Given the description of an element on the screen output the (x, y) to click on. 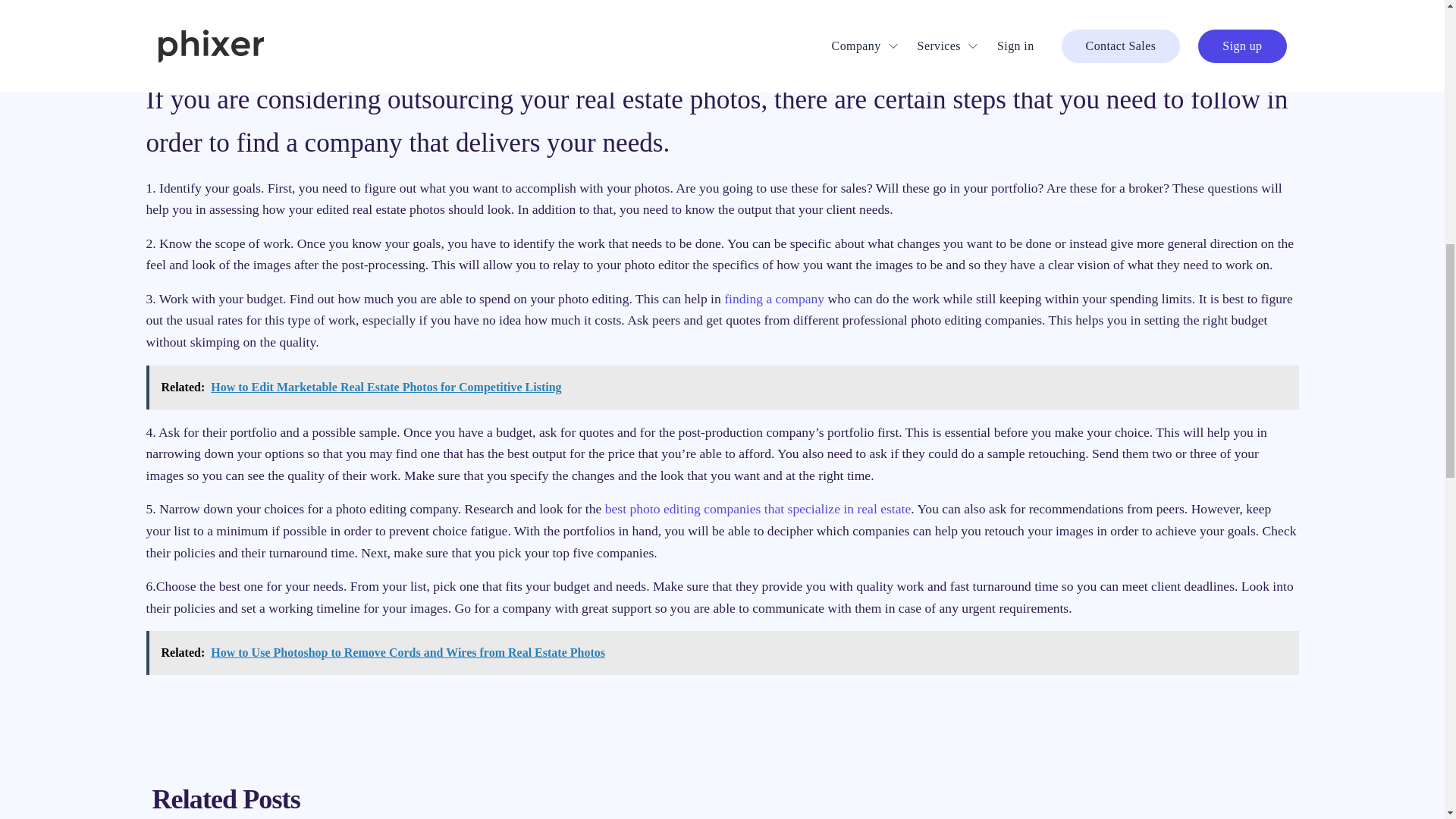
outsourcing (411, 20)
best photo editing companies that specialize in real estate (758, 508)
How to Find the Best Real Estate Photo Editing Company (773, 298)
finding a company (773, 298)
